Given the description of an element on the screen output the (x, y) to click on. 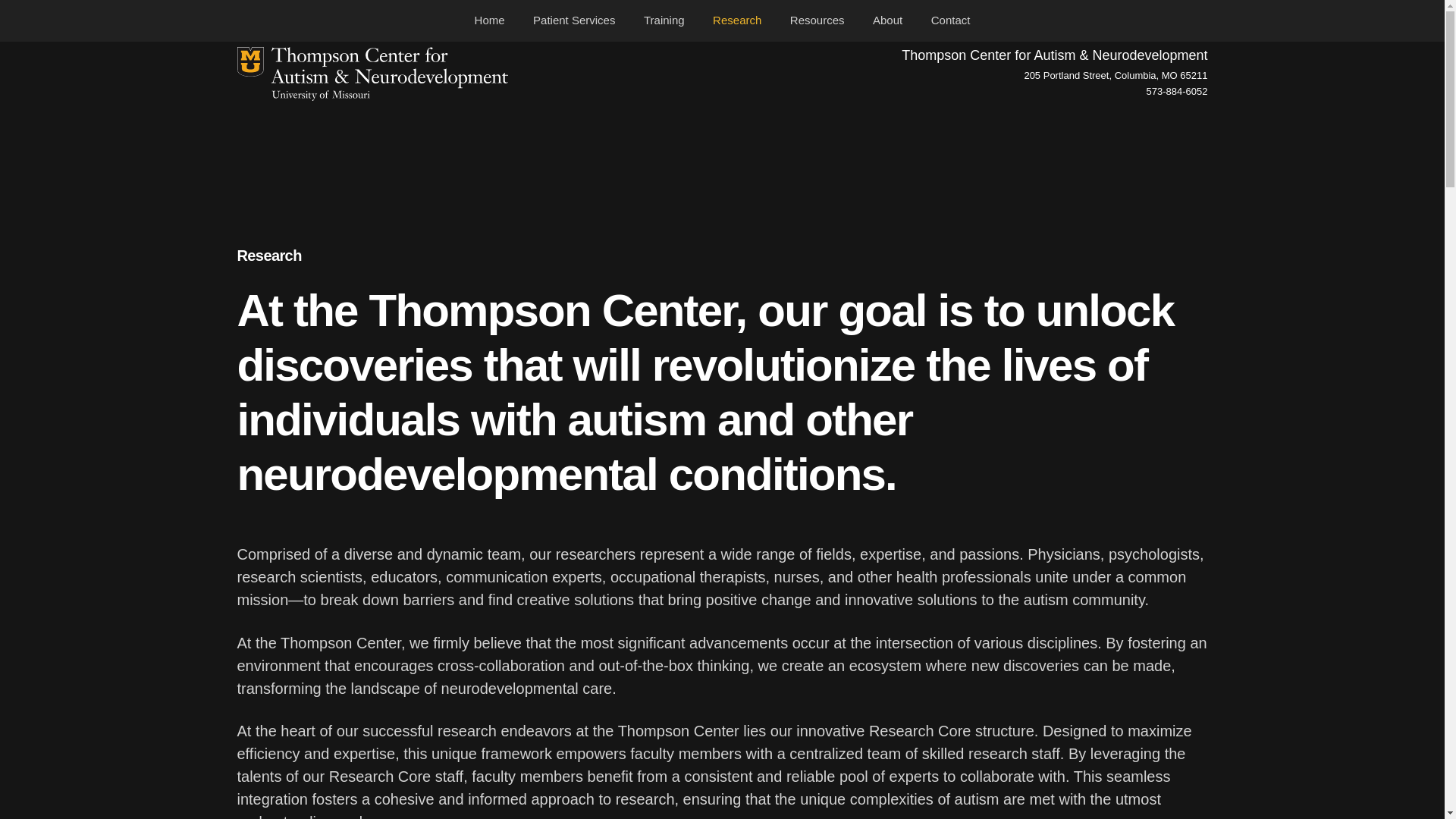
Patient Services (573, 20)
Contact (951, 20)
Home (489, 20)
Resources (817, 20)
About (887, 20)
Research (737, 20)
Training (663, 20)
